Given the description of an element on the screen output the (x, y) to click on. 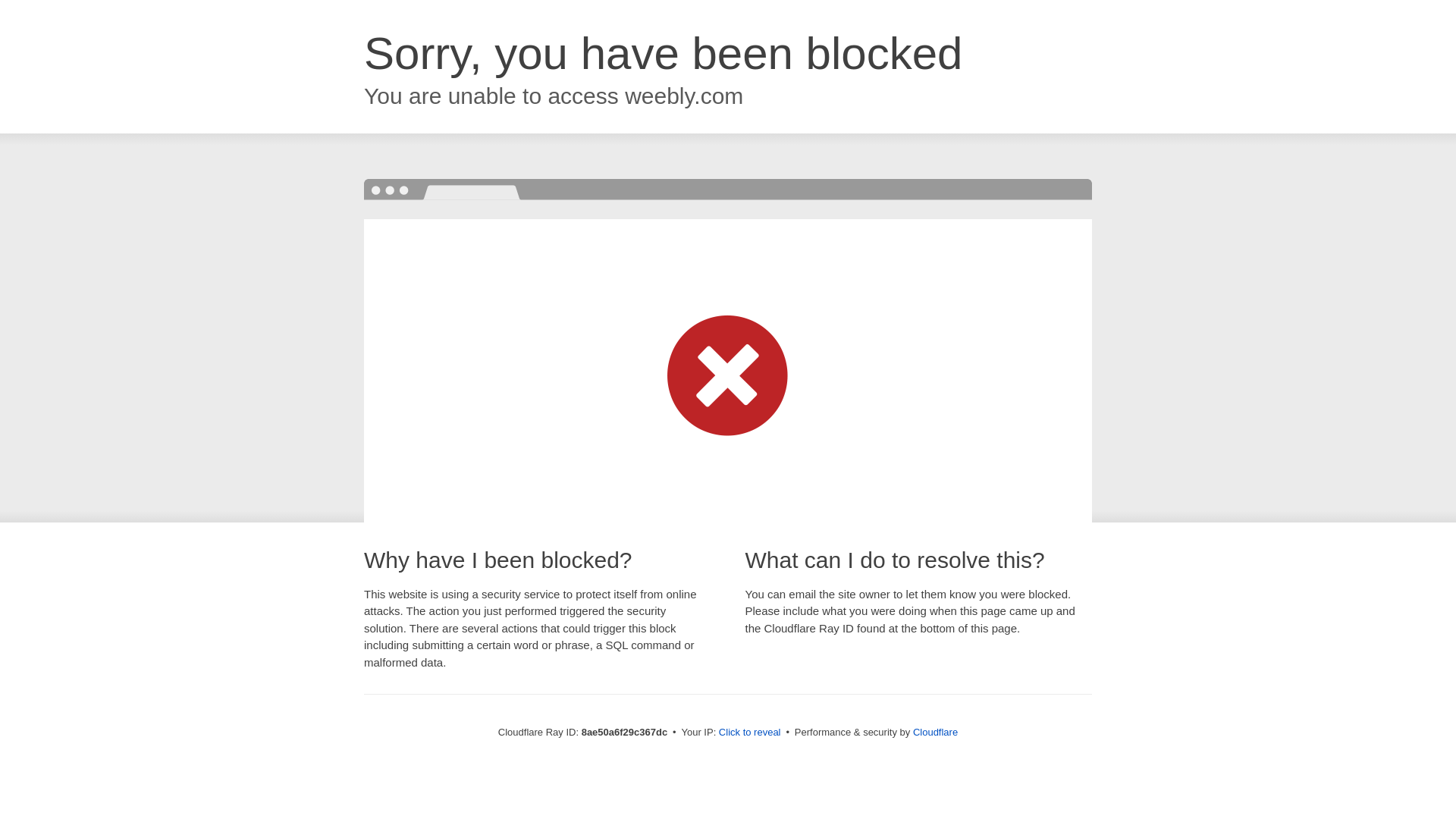
Click to reveal (749, 732)
Cloudflare (935, 731)
